Given the description of an element on the screen output the (x, y) to click on. 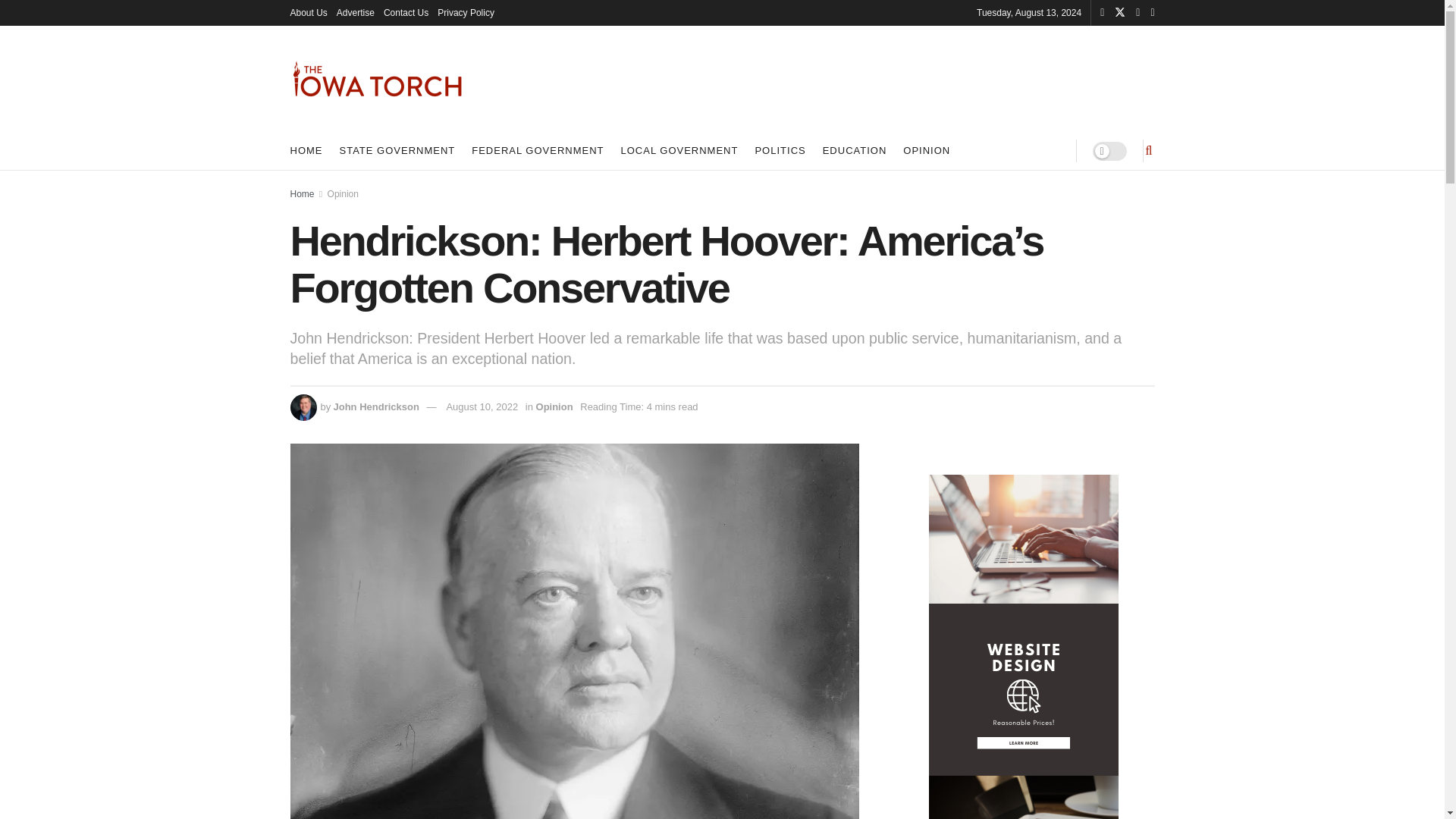
EDUCATION (854, 150)
Advertise (355, 12)
Contact Us (406, 12)
STATE GOVERNMENT (397, 150)
POLITICS (779, 150)
OPINION (926, 150)
John Hendrickson (376, 406)
Privacy Policy (466, 12)
August 10, 2022 (481, 406)
Opinion (554, 406)
